Given the description of an element on the screen output the (x, y) to click on. 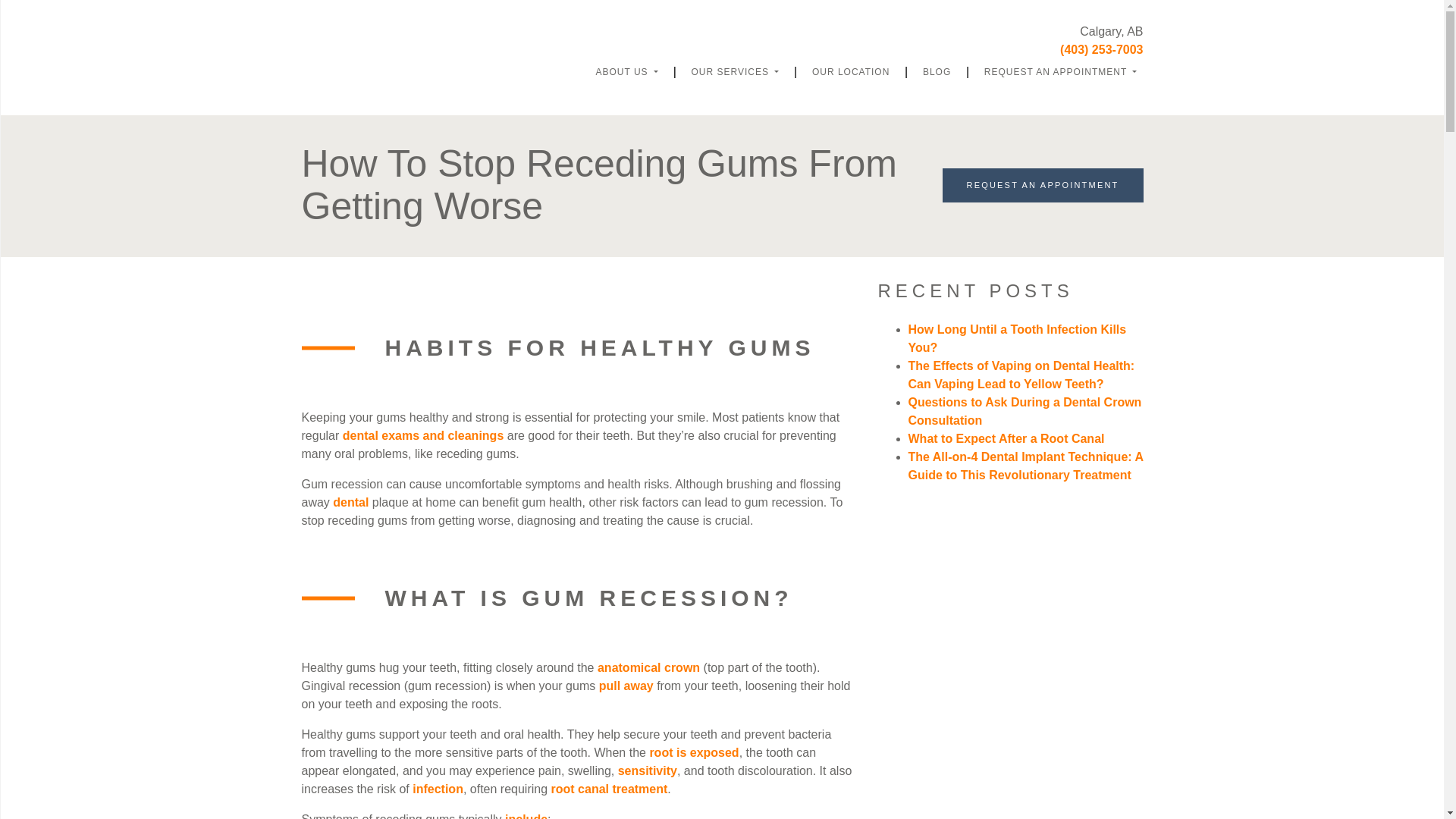
dental (352, 502)
infection (437, 788)
root canal treatment (609, 788)
dental exams and cleanings (422, 435)
sensitivity (647, 770)
OUR LOCATION (850, 71)
include (526, 816)
ABOUT US (626, 71)
OUR SERVICES (735, 71)
Our Services (735, 71)
